Given the description of an element on the screen output the (x, y) to click on. 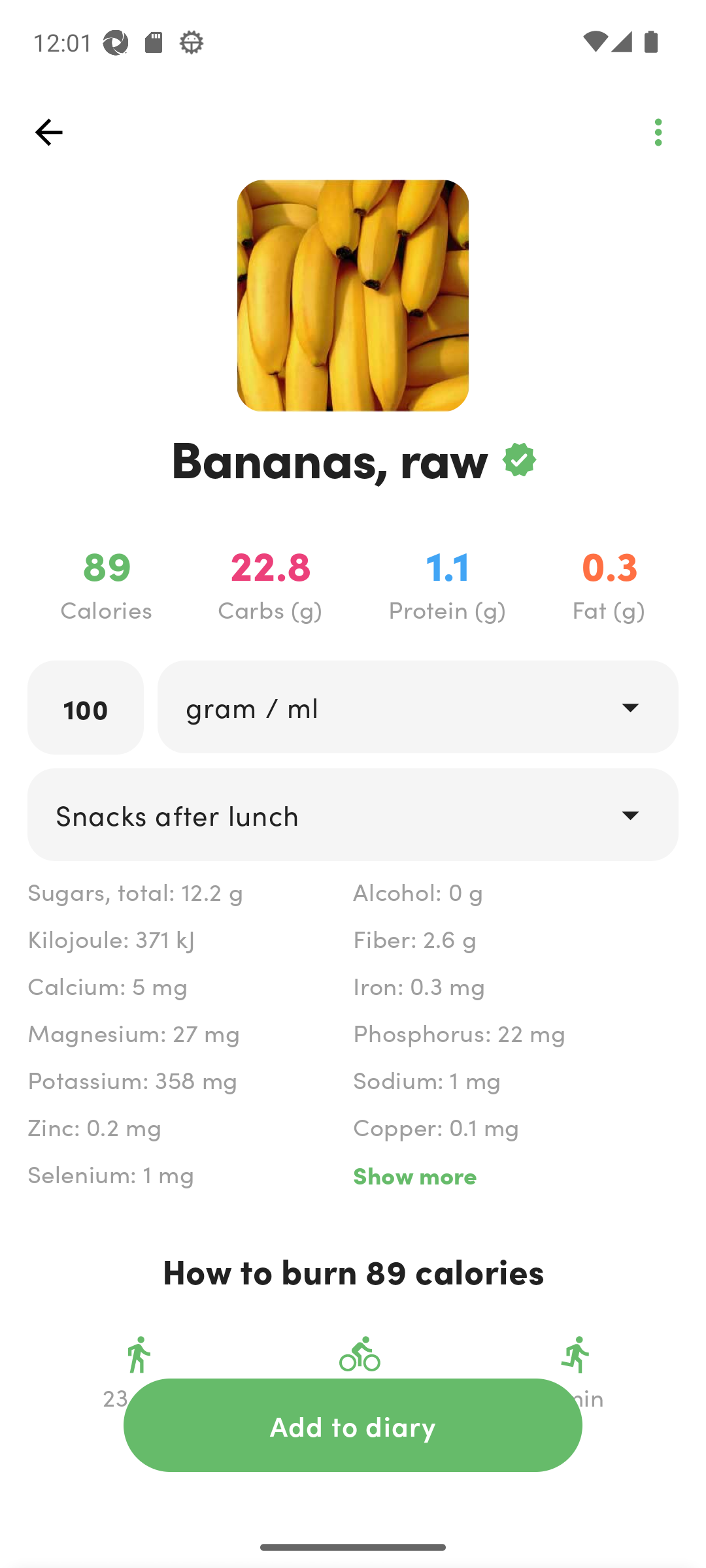
top_left_action (48, 132)
top_left_action (658, 132)
100 labeled_edit_text (85, 707)
drop_down gram / ml (417, 706)
drop_down Snacks after lunch (352, 814)
Show more (515, 1174)
action_button Add to diary (352, 1425)
